Given the description of an element on the screen output the (x, y) to click on. 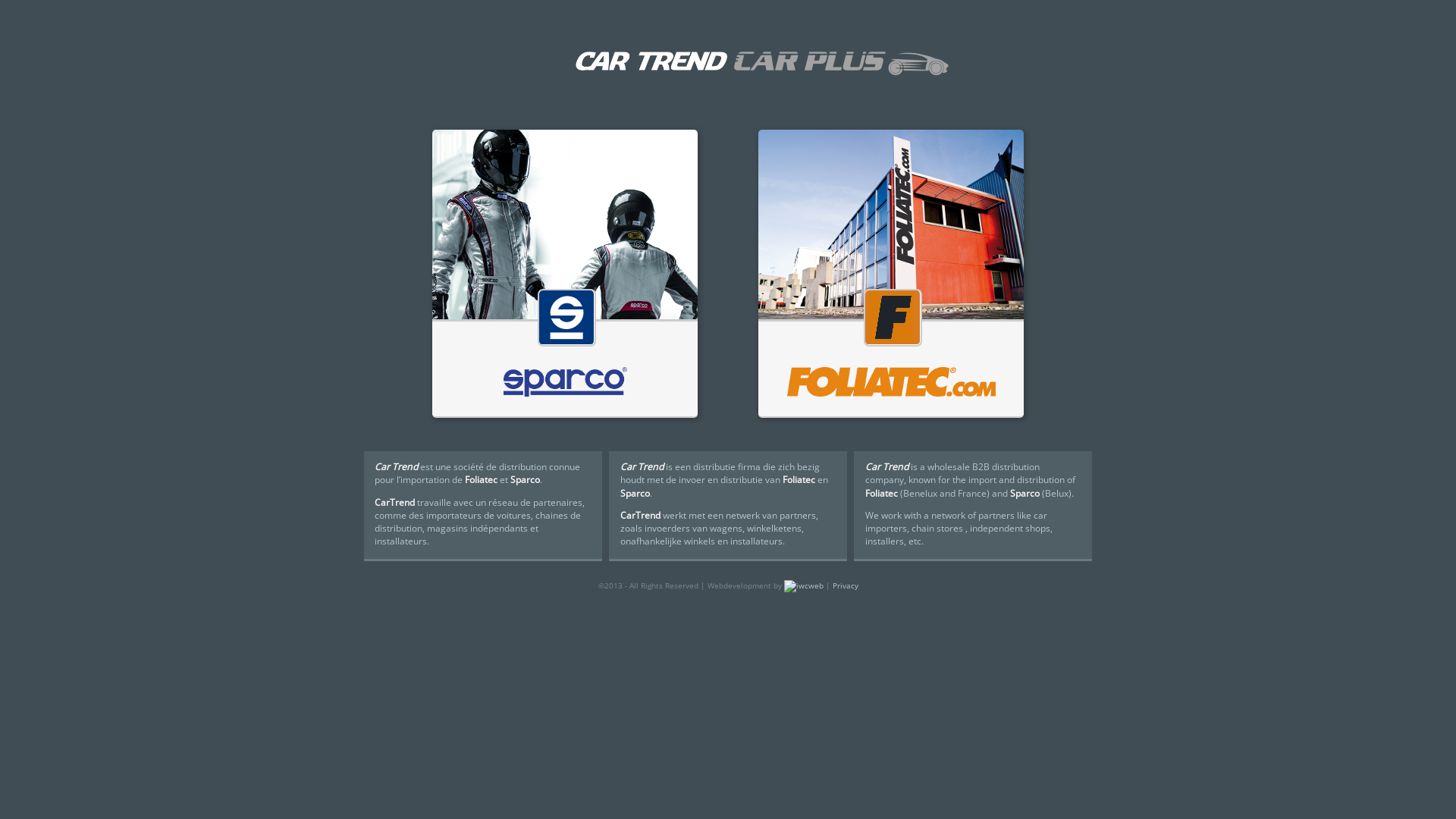
Privacy Element type: text (845, 585)
